Given the description of an element on the screen output the (x, y) to click on. 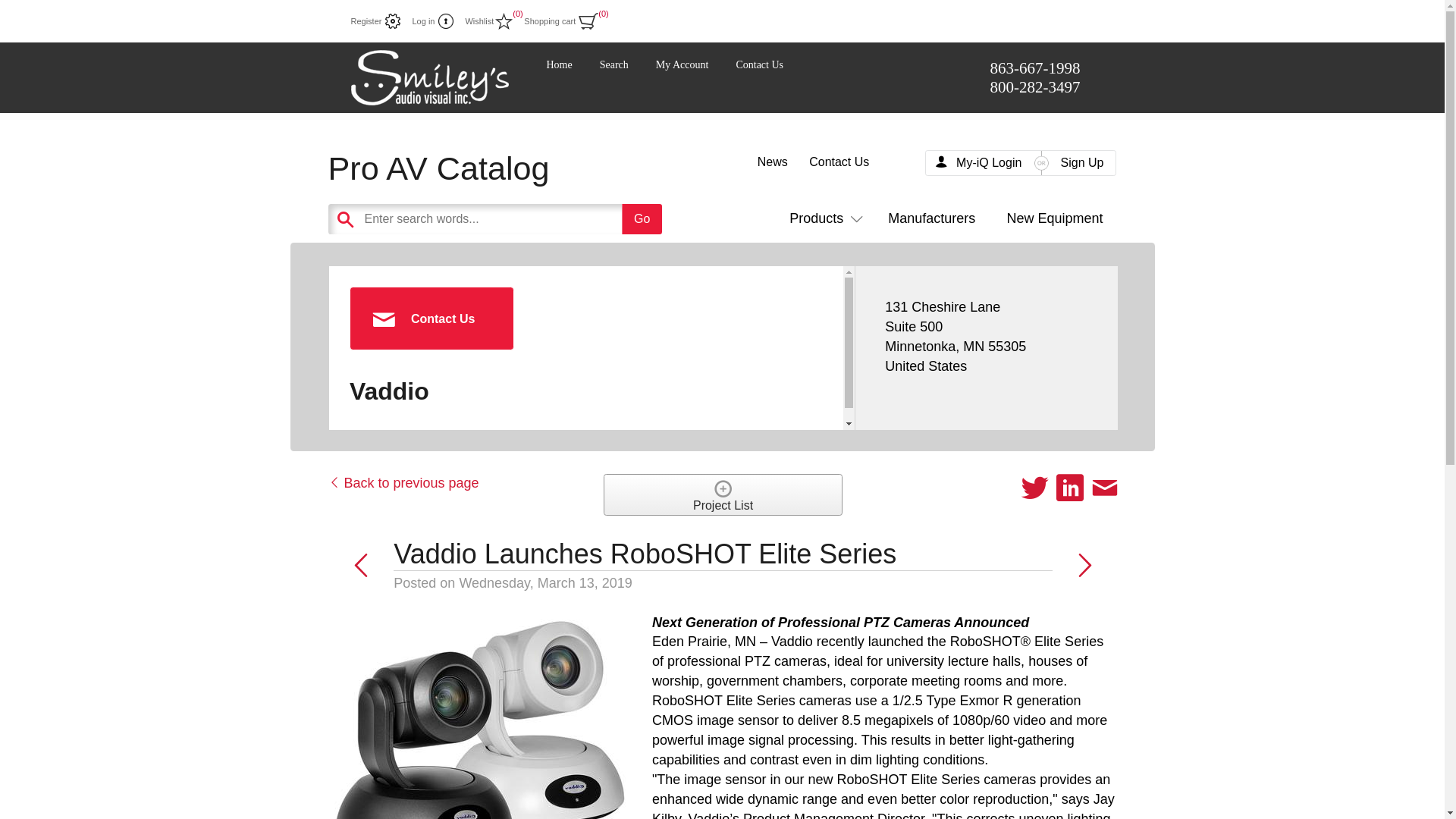
Go (641, 218)
863-667-1998 (1035, 67)
Go (641, 218)
Home (559, 64)
Enter search words... (531, 218)
My Account (682, 64)
Smiley's Audio-Visual, Inc. (429, 77)
Search (613, 64)
800-282-3497 (1035, 85)
Register (375, 21)
